Given the description of an element on the screen output the (x, y) to click on. 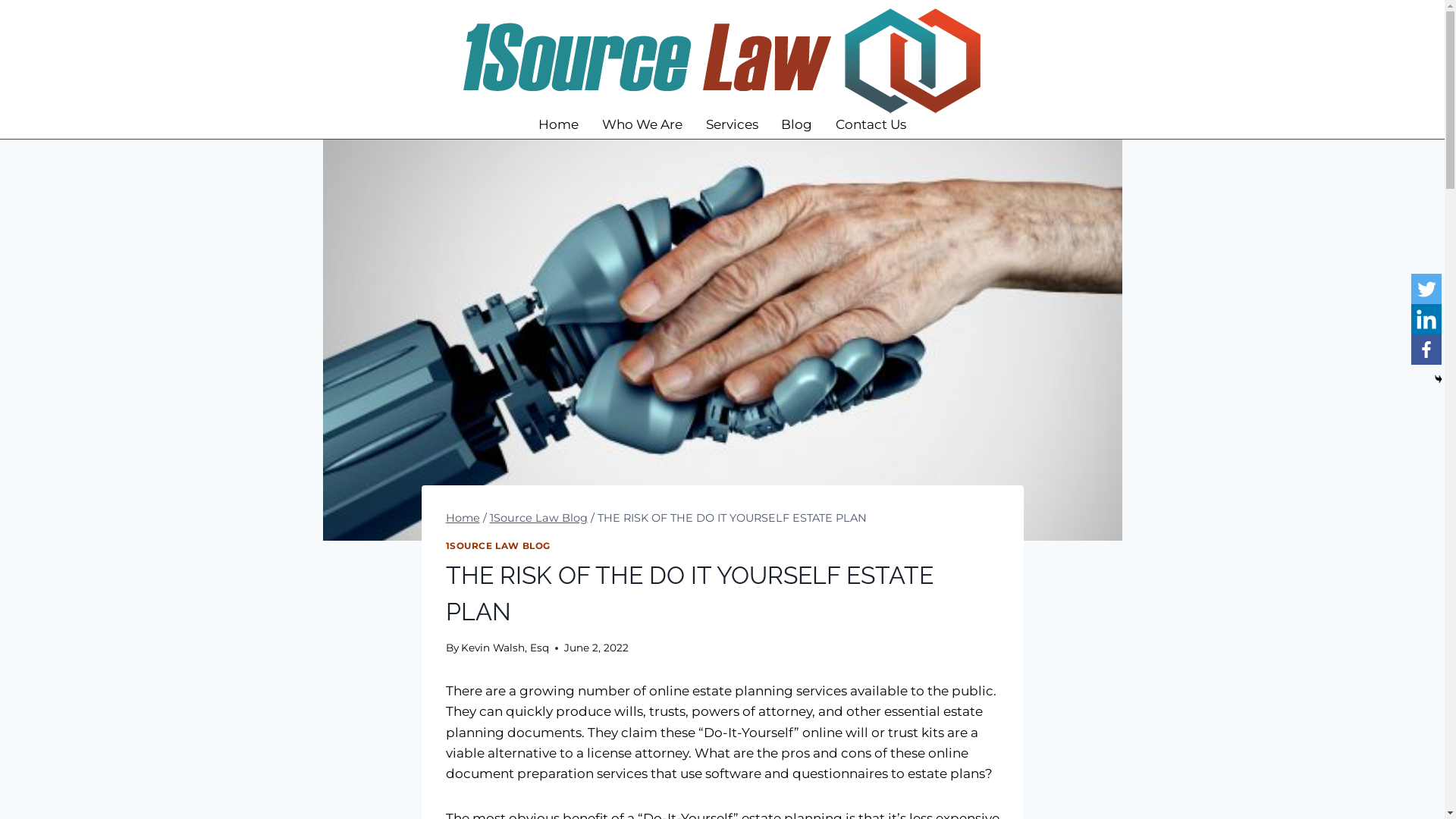
Hide Element type: hover (1438, 379)
Linkedin Element type: hover (1426, 319)
Home Element type: text (462, 517)
Blog Element type: text (796, 124)
Home Element type: text (558, 124)
Facebook Element type: hover (1426, 349)
Services Element type: text (731, 124)
Kevin Walsh, Esq Element type: text (505, 647)
Twitter Element type: hover (1426, 288)
Who We Are Element type: text (641, 124)
1SOURCE LAW BLOG Element type: text (498, 545)
1Source Law Blog Element type: text (538, 517)
Contact Us Element type: text (871, 124)
